Given the description of an element on the screen output the (x, y) to click on. 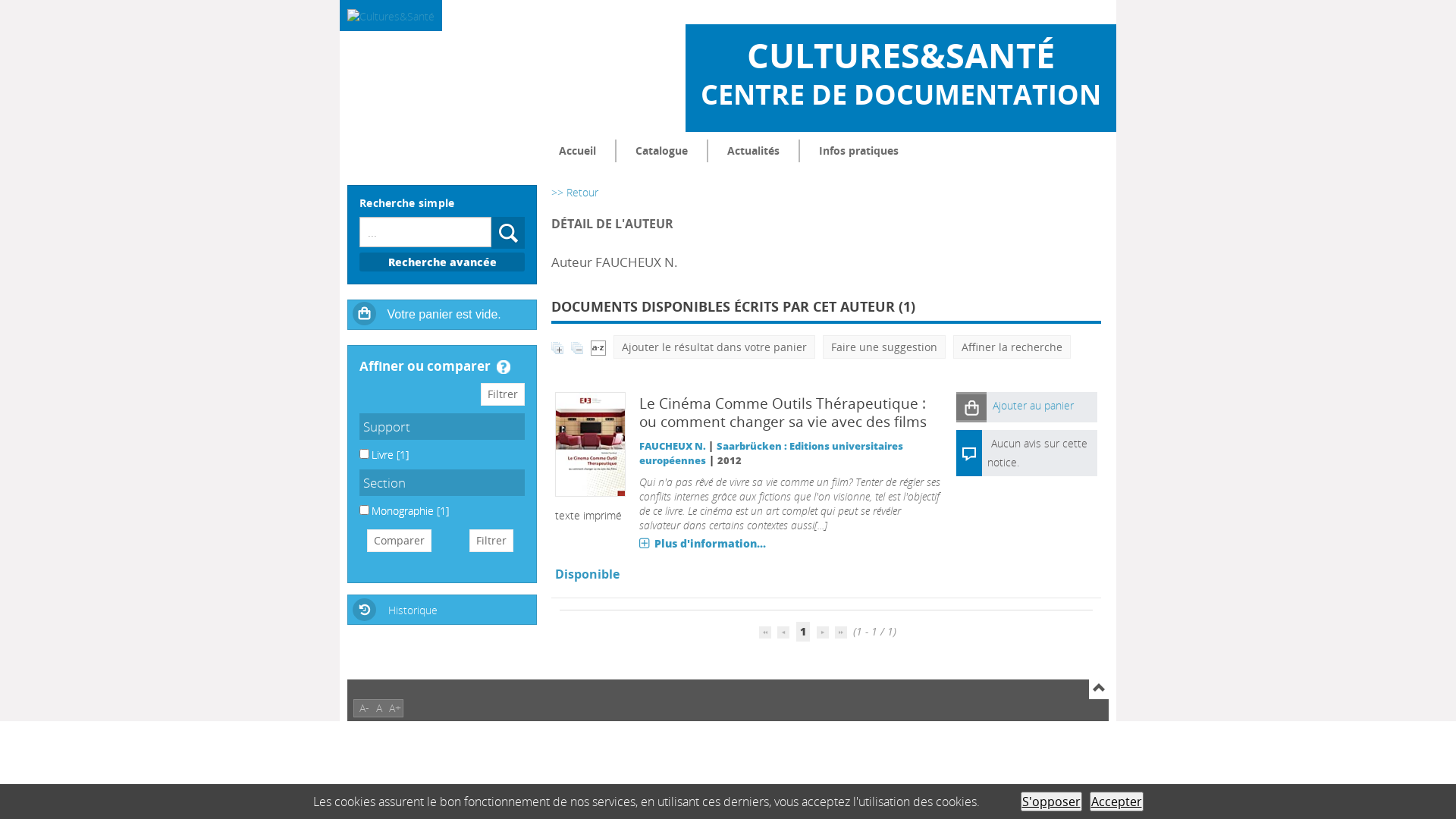
Monographie [1] Element type: text (409, 510)
Ajouter au panier Element type: hover (971, 406)
Faire une suggestion Element type: text (883, 346)
Historique Element type: text (442, 608)
Plus d'information... Element type: text (702, 543)
S'opposer Element type: text (1051, 801)
Ajouter au panier Element type: text (1041, 407)
Catalogue Element type: text (661, 150)
FAUCHEUX N. Element type: text (672, 445)
Comparer Element type: text (399, 540)
Disponible Element type: text (587, 573)
Accepter Element type: text (1115, 801)
Livre [1] Element type: text (389, 454)
Filtrer Element type: text (491, 540)
Accueil Element type: text (577, 150)
Filtrer Element type: text (502, 393)
>> Retour Element type: text (574, 192)
Tris disponibles Element type: hover (597, 346)
Section Element type: text (441, 482)
Affiner la recherche Element type: text (1011, 346)
Rechercher Element type: text (507, 232)
Aucun avis sur cette notice. Element type: text (1037, 452)
A- Element type: text (364, 707)
Support Element type: text (441, 426)
Infos pratiques Element type: text (858, 150)
A Element type: text (379, 707)
A+ Element type: text (395, 707)
